Given the description of an element on the screen output the (x, y) to click on. 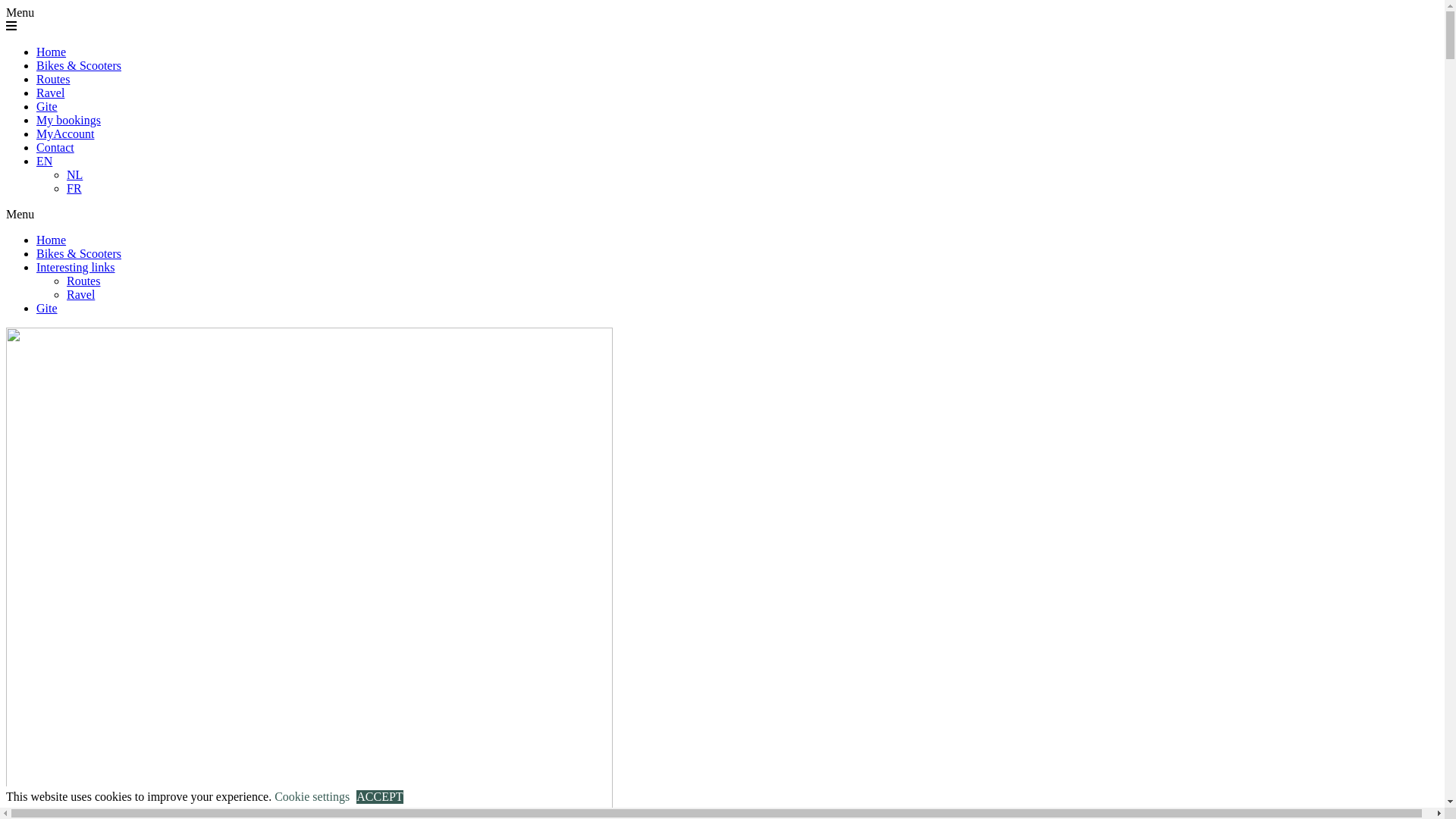
ACCEPT Element type: text (379, 796)
MyAccount Element type: text (65, 133)
Bikes & Scooters Element type: text (78, 253)
Home Element type: text (50, 51)
Contact Element type: text (55, 147)
Interesting links Element type: text (75, 266)
EN Element type: text (44, 160)
Ravel Element type: text (50, 92)
Routes Element type: text (83, 280)
NL Element type: text (74, 174)
Cookie settings Element type: text (311, 796)
Ravel Element type: text (80, 294)
Home Element type: text (50, 239)
Routes Element type: text (52, 78)
Gite Element type: text (46, 106)
My bookings Element type: text (68, 119)
FR Element type: text (73, 188)
Bikes & Scooters Element type: text (78, 65)
Gite Element type: text (46, 307)
